Given the description of an element on the screen output the (x, y) to click on. 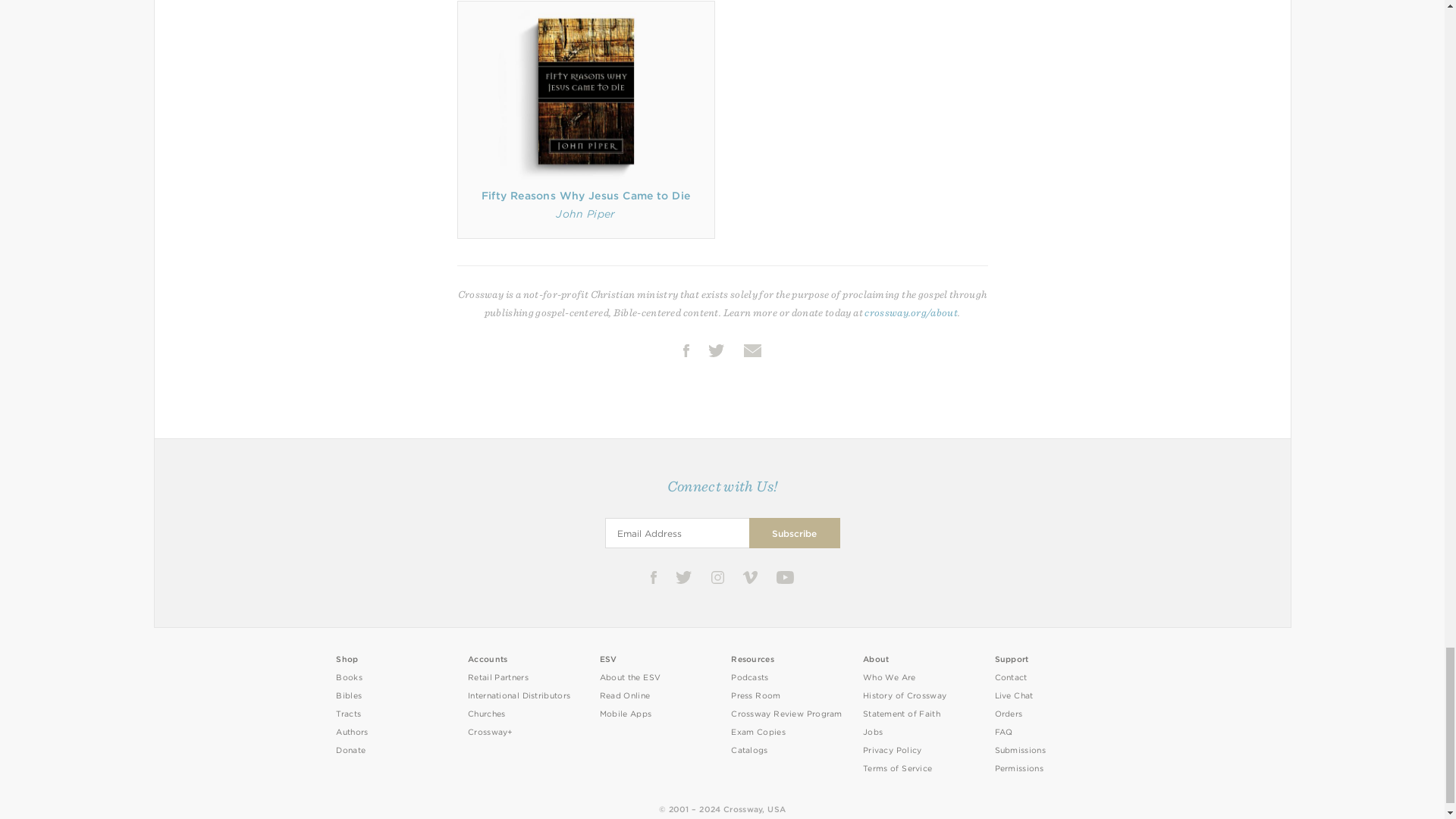
Subscribe (794, 532)
John Piper (585, 214)
Fifty Reasons Why Jesus Came to Die (585, 195)
